Given the description of an element on the screen output the (x, y) to click on. 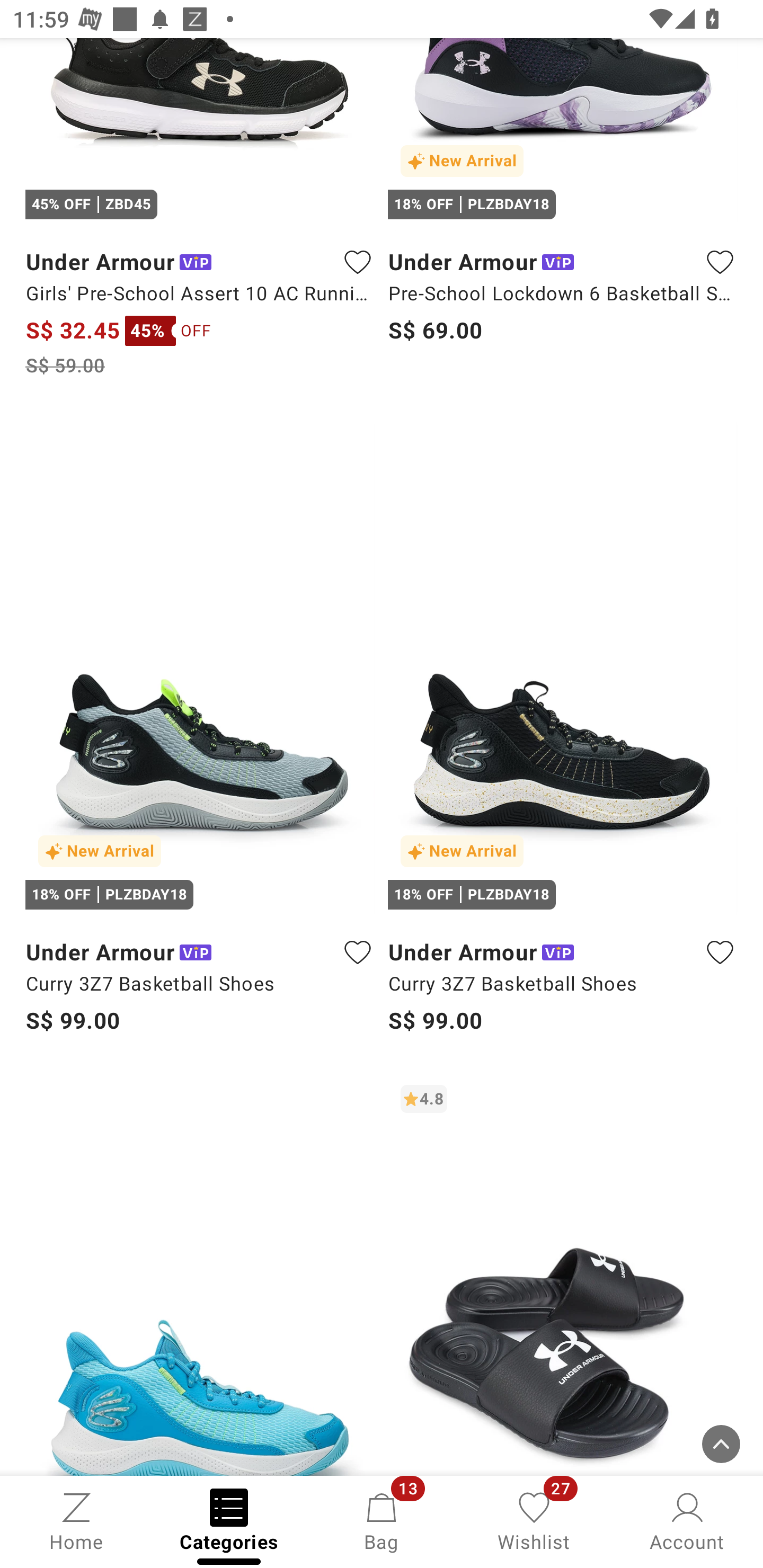
4.8 (562, 1273)
Home (76, 1519)
Bag, 13 new notifications Bag (381, 1519)
Wishlist, 27 new notifications Wishlist (533, 1519)
Account (686, 1519)
